Given the description of an element on the screen output the (x, y) to click on. 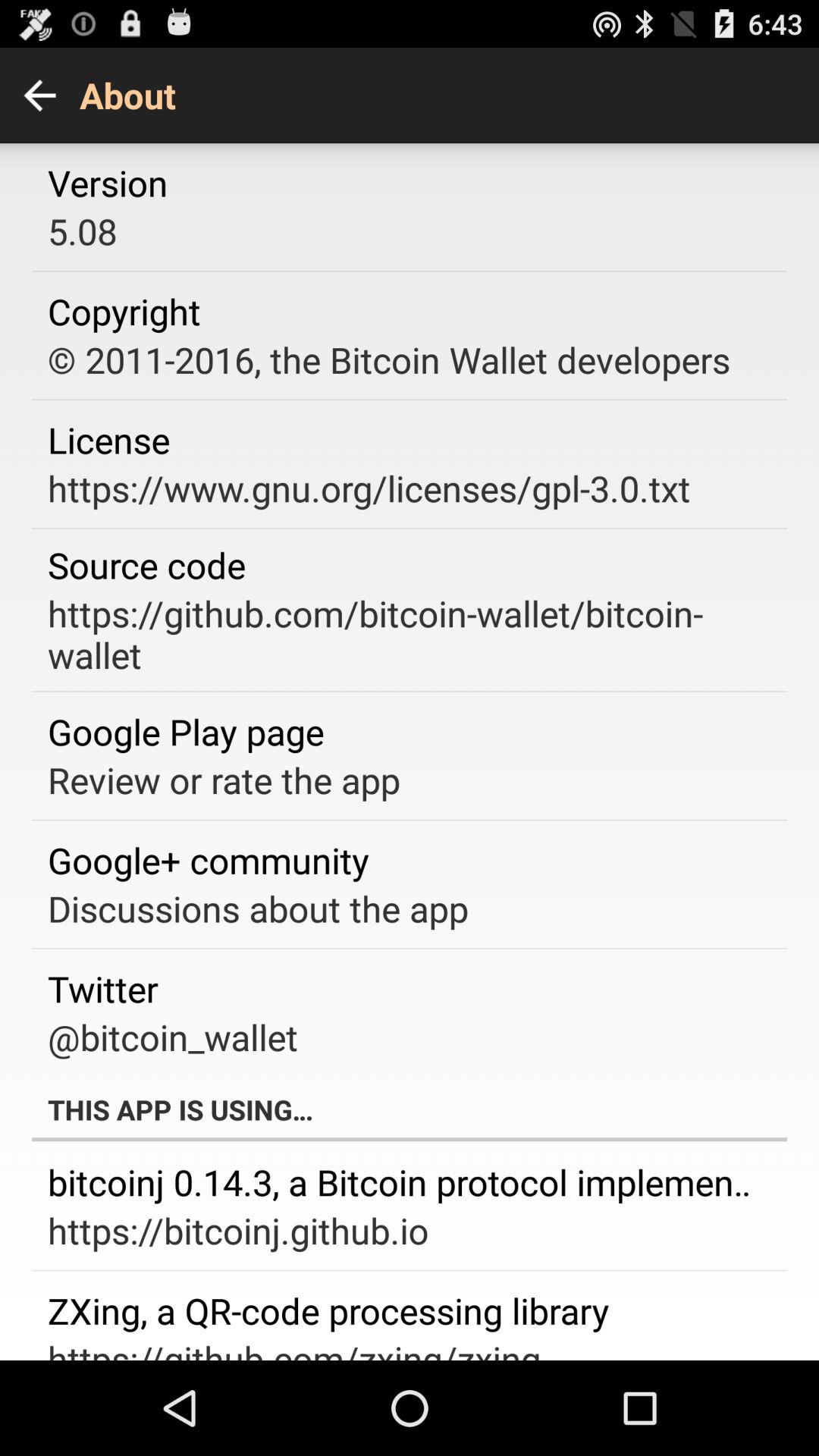
click icon below google+ community item (257, 908)
